Given the description of an element on the screen output the (x, y) to click on. 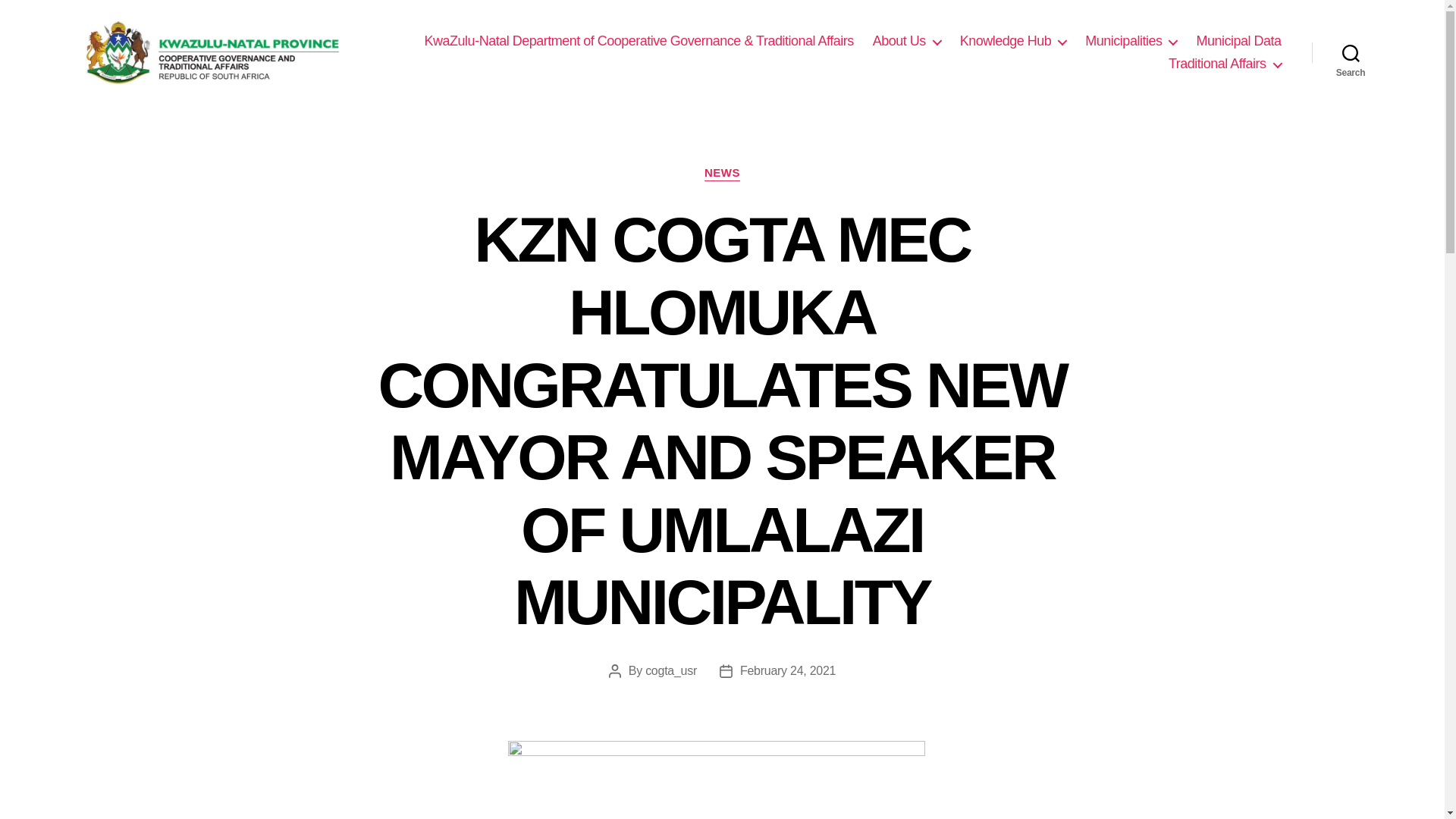
Knowledge Hub (1013, 41)
Municipalities (1130, 41)
About Us (906, 41)
